Given the description of an element on the screen output the (x, y) to click on. 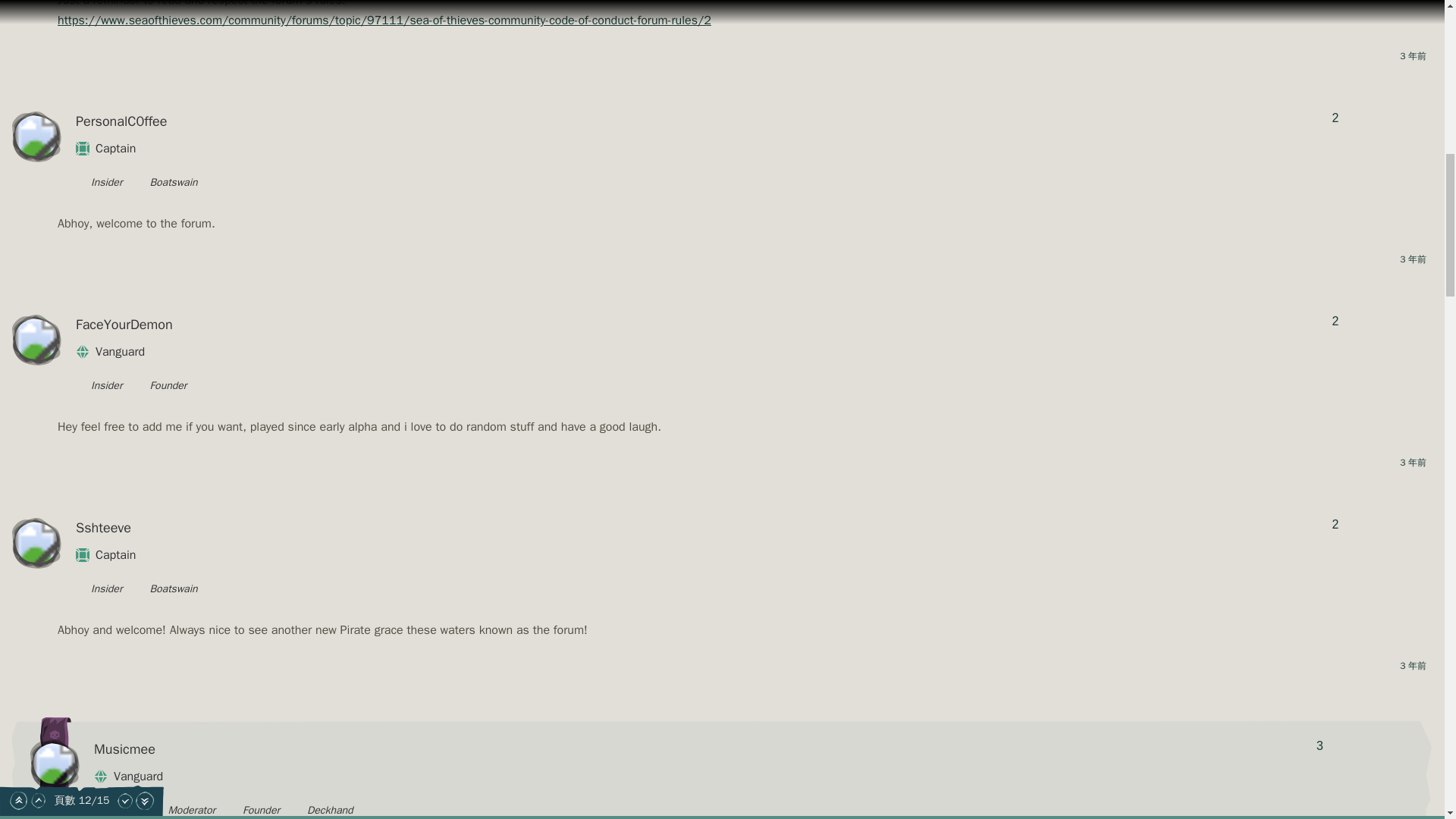
2 (1335, 321)
2 (1335, 118)
2 (1335, 524)
3 (1319, 745)
